Given the description of an element on the screen output the (x, y) to click on. 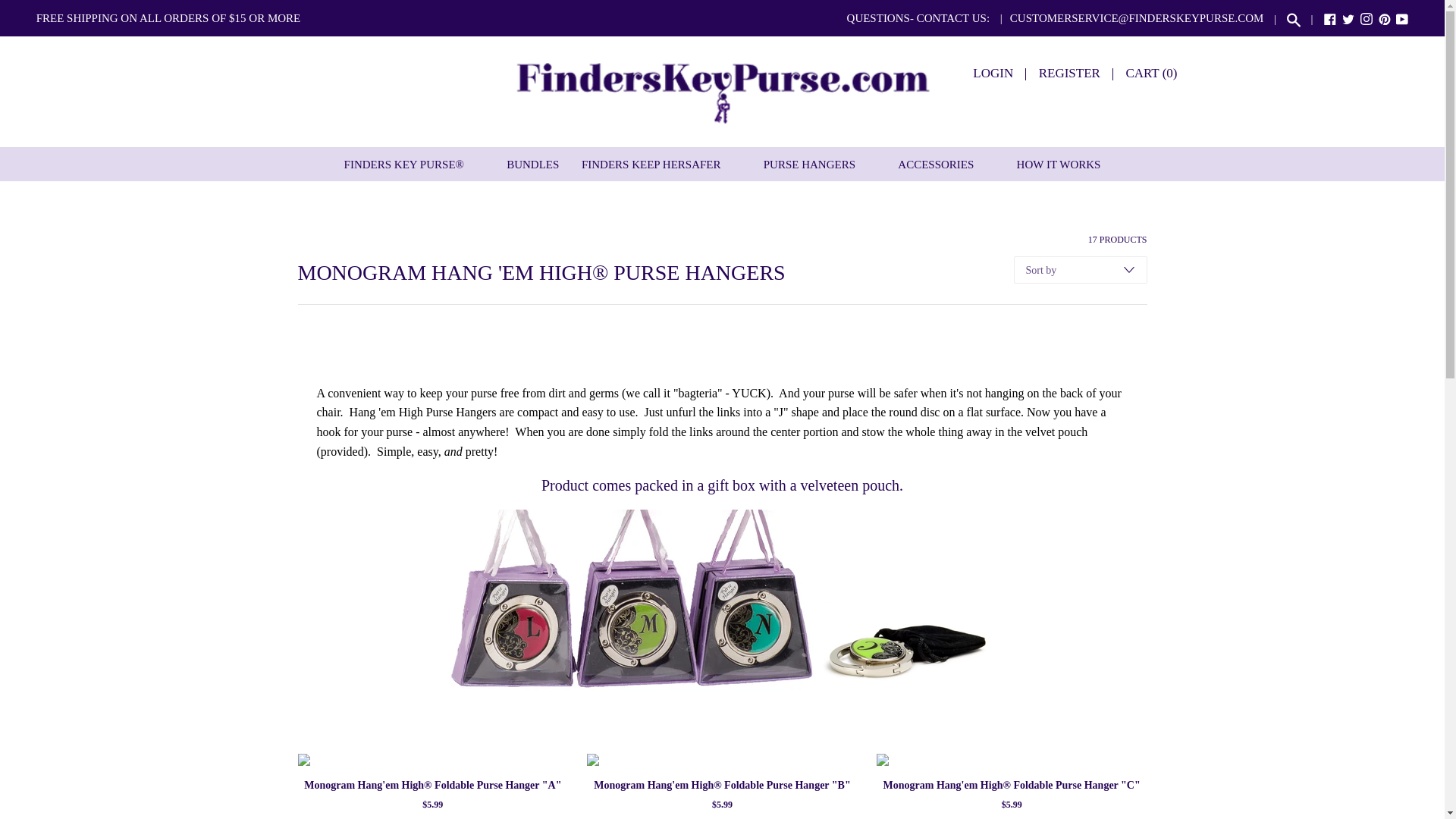
Twitter (1348, 19)
Instagram (1366, 19)
Facebook (1329, 19)
YouTube (1401, 21)
Facebook (1329, 21)
Twitter (1348, 21)
LOGIN (992, 73)
Instagram (1366, 21)
REGISTER (1069, 73)
YouTube (1401, 19)
Pinterest (1384, 19)
Pinterest (1384, 21)
